Given the description of an element on the screen output the (x, y) to click on. 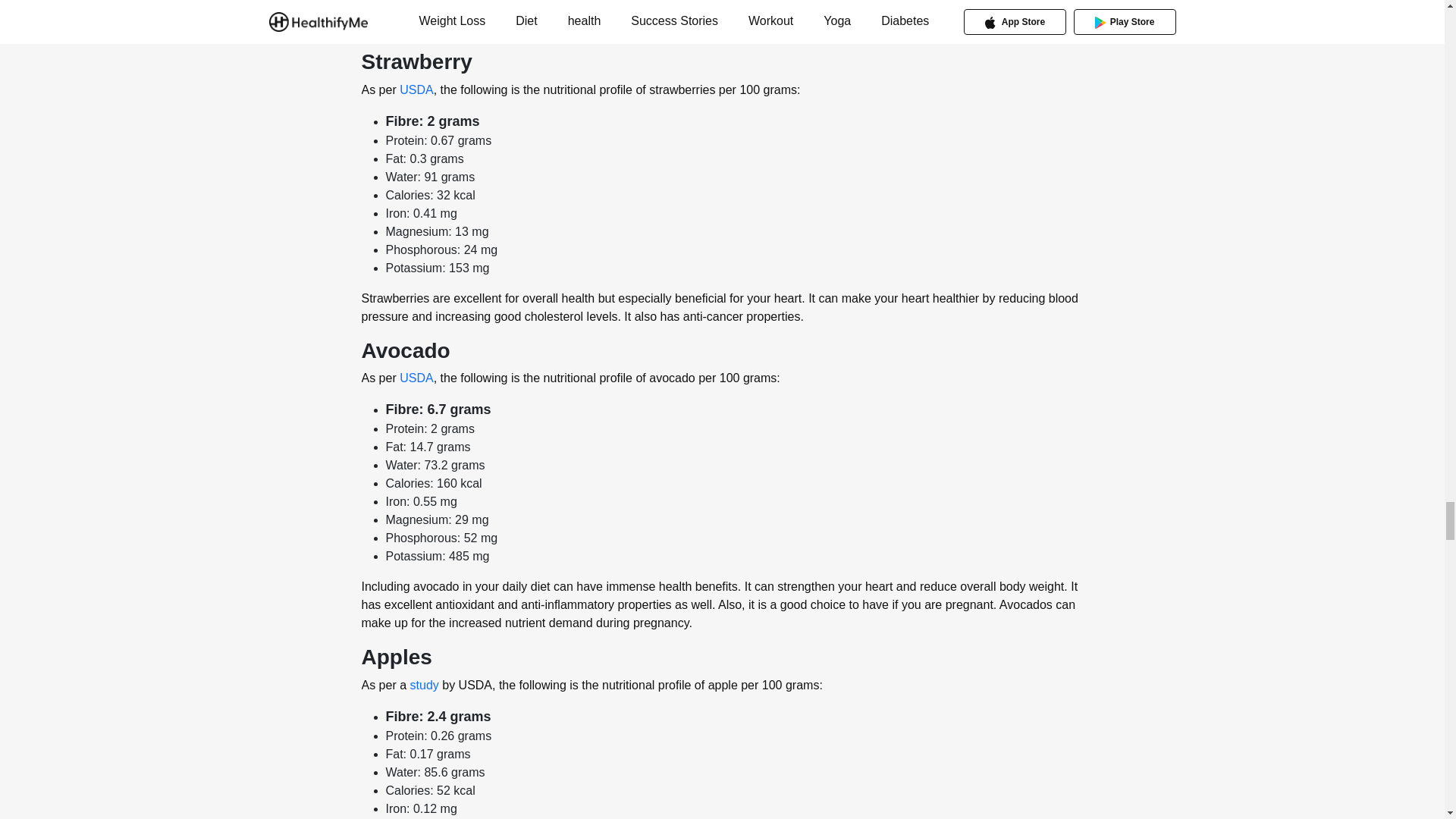
USDA (415, 89)
USDA (415, 377)
study (422, 684)
